Given the description of an element on the screen output the (x, y) to click on. 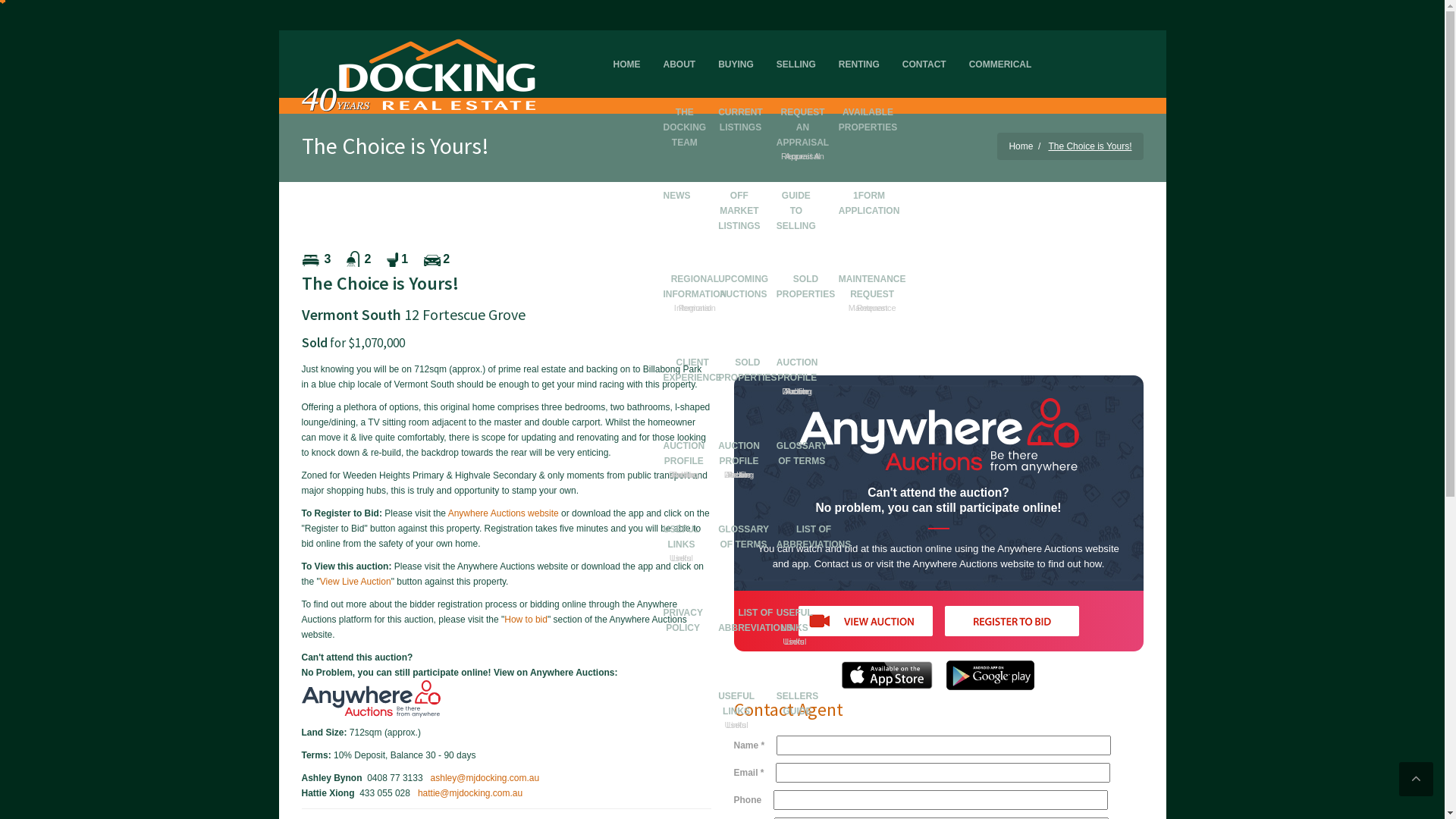
MAINTENANCE REQUEST Element type: text (872, 275)
ABOUT Element type: text (679, 51)
CONTACT Element type: text (924, 51)
AUCTION PROFILE Element type: text (738, 442)
hattie@mjdocking.com.au Element type: text (469, 792)
View Live Auction Element type: text (355, 581)
REQUEST AN APPRAISAL Element type: text (802, 117)
COMMERICAL Element type: text (1000, 51)
SELLING Element type: text (796, 51)
THE DOCKING TEAM Element type: text (685, 114)
CLIENT EXPERIENCE Element type: text (692, 356)
OFF MARKET LISTINGS Element type: text (738, 197)
How to bid Element type: text (525, 619)
USEFUL LINKS Element type: text (794, 609)
SOLD PROPERTIES Element type: text (746, 356)
PRIVACY POLICY Element type: text (683, 606)
Anywhere Auctions website Element type: text (503, 513)
LIST OF ABBREVIATIONS Element type: text (813, 523)
USEFUL LINKS Element type: text (681, 526)
SELLERS GUIDE Element type: text (797, 690)
Docking Real Estate Element type: hover (418, 70)
USEFUL LINKS Element type: text (735, 693)
AUCTION PROFILE Element type: text (797, 359)
AUCTION PROFILE Element type: text (684, 442)
SOLD PROPERTIES Element type: text (805, 272)
GLOSSARY OF TERMS Element type: text (801, 439)
CURRENT LISTINGS Element type: text (740, 106)
HOME Element type: text (627, 51)
1FORM APPLICATION Element type: text (868, 189)
ashley@mjdocking.com.au Element type: text (484, 777)
RENTING Element type: text (859, 51)
NEWS Element type: text (677, 182)
GLOSSARY OF TERMS Element type: text (743, 523)
BUYING Element type: text (735, 51)
REGIONAL INFORMATION Element type: text (695, 275)
GUIDE TO SELLING Element type: text (796, 197)
UPCOMING AUCTIONS Element type: text (742, 272)
AVAILABLE PROPERTIES Element type: text (867, 106)
Contact Agent Element type: text (788, 709)
LIST OF ABBREVIATIONS Element type: text (754, 606)
Home Element type: text (1020, 146)
